Given the description of an element on the screen output the (x, y) to click on. 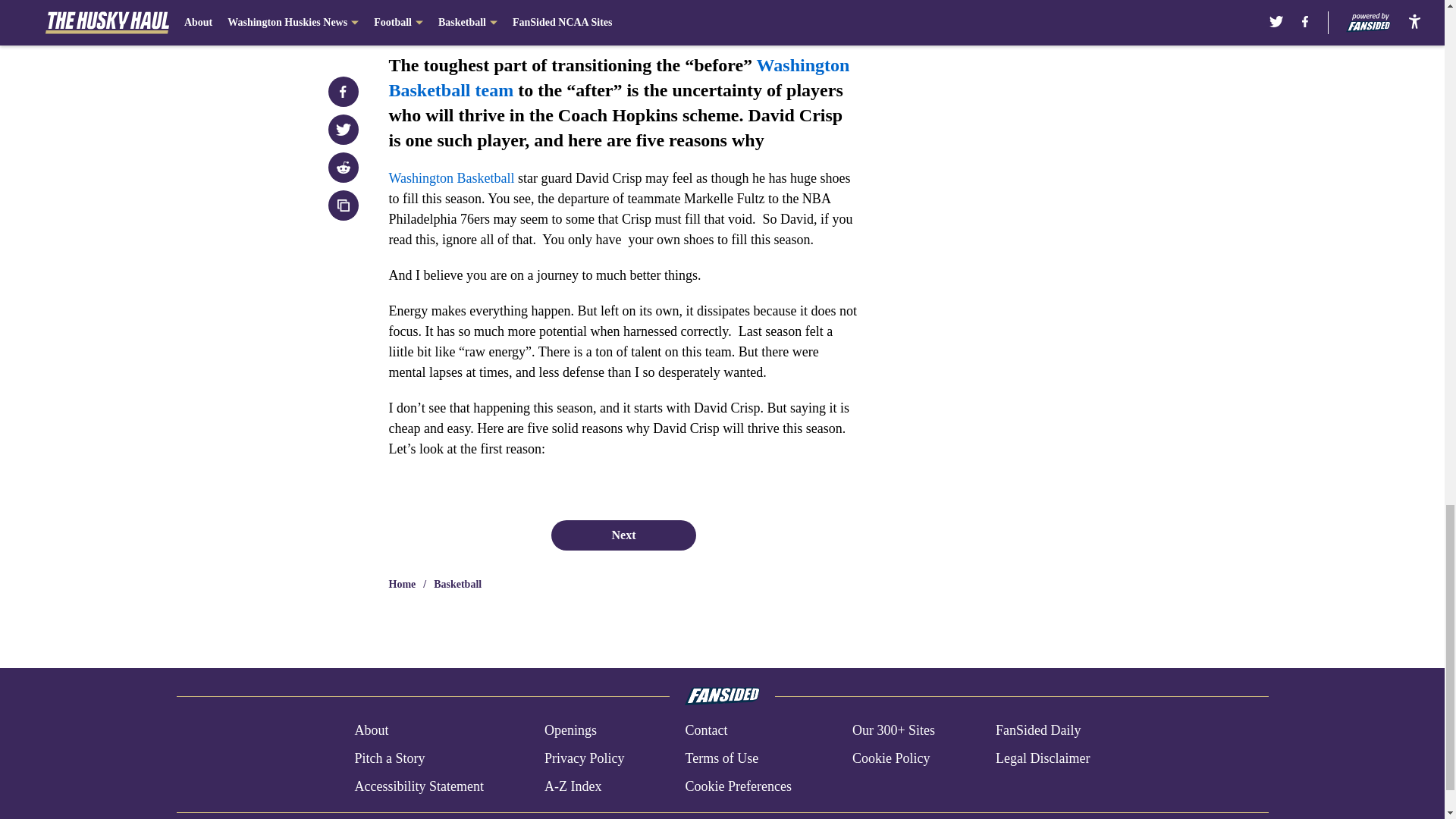
Contact (705, 730)
Cookie Policy (890, 758)
Openings (570, 730)
Privacy Policy (584, 758)
Legal Disclaimer (1042, 758)
Accessibility Statement (418, 786)
FanSided Daily (1038, 730)
Pitch a Story (389, 758)
Home (401, 584)
About (370, 730)
